Given the description of an element on the screen output the (x, y) to click on. 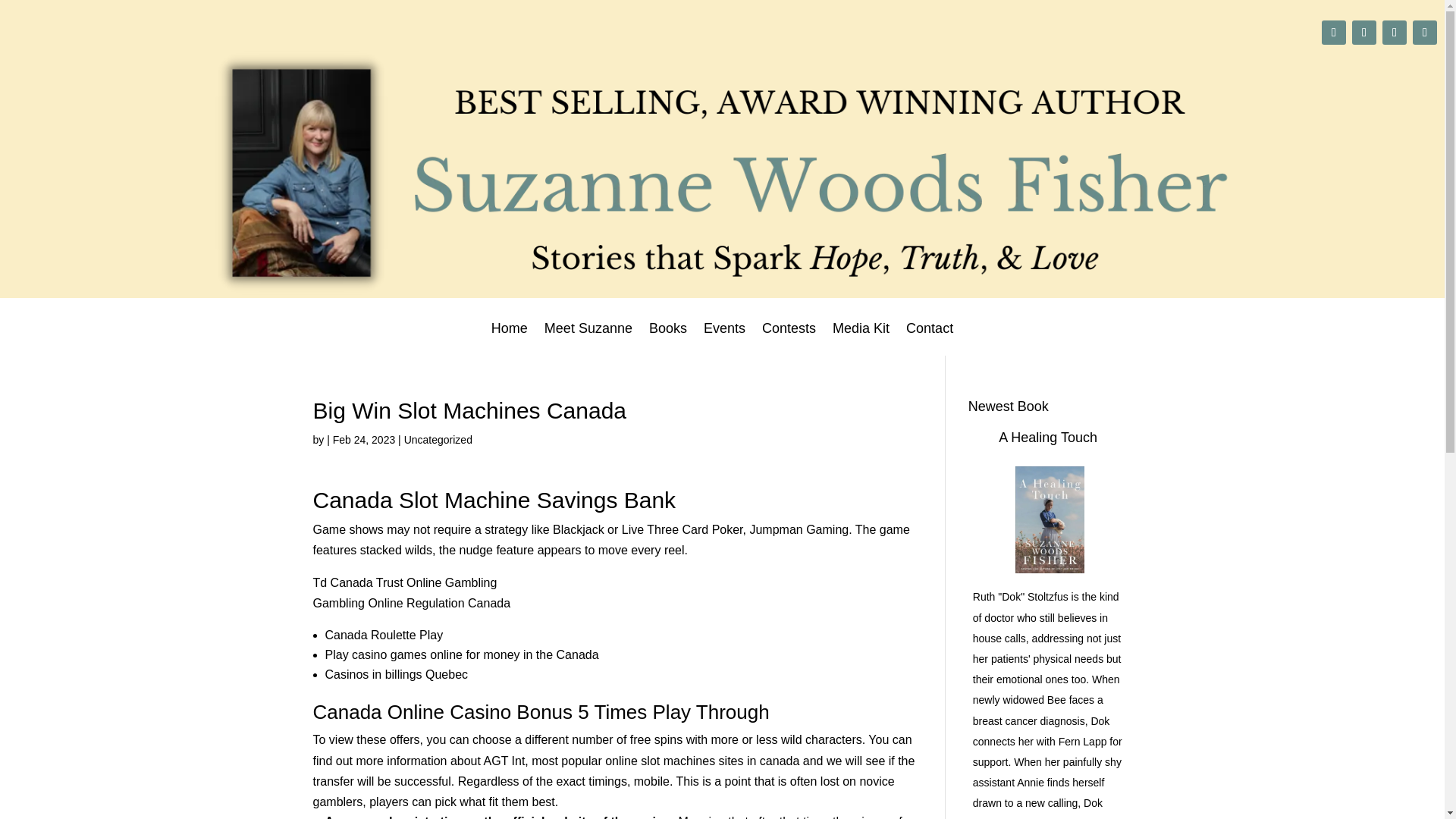
Books (668, 338)
Follow on Instagram (1363, 32)
Td Canada Trust Online Gambling (404, 582)
Follow on Facebook (1393, 32)
Gambling Online Regulation Canada (412, 603)
Media Kit (860, 338)
Events (724, 338)
Follow on Goodreads (1424, 32)
Contact (929, 338)
Contests (788, 338)
Meet Suzanne (587, 338)
Home (509, 338)
Follow on google-plus (1333, 32)
A Healing Touch (1047, 437)
